Given the description of an element on the screen output the (x, y) to click on. 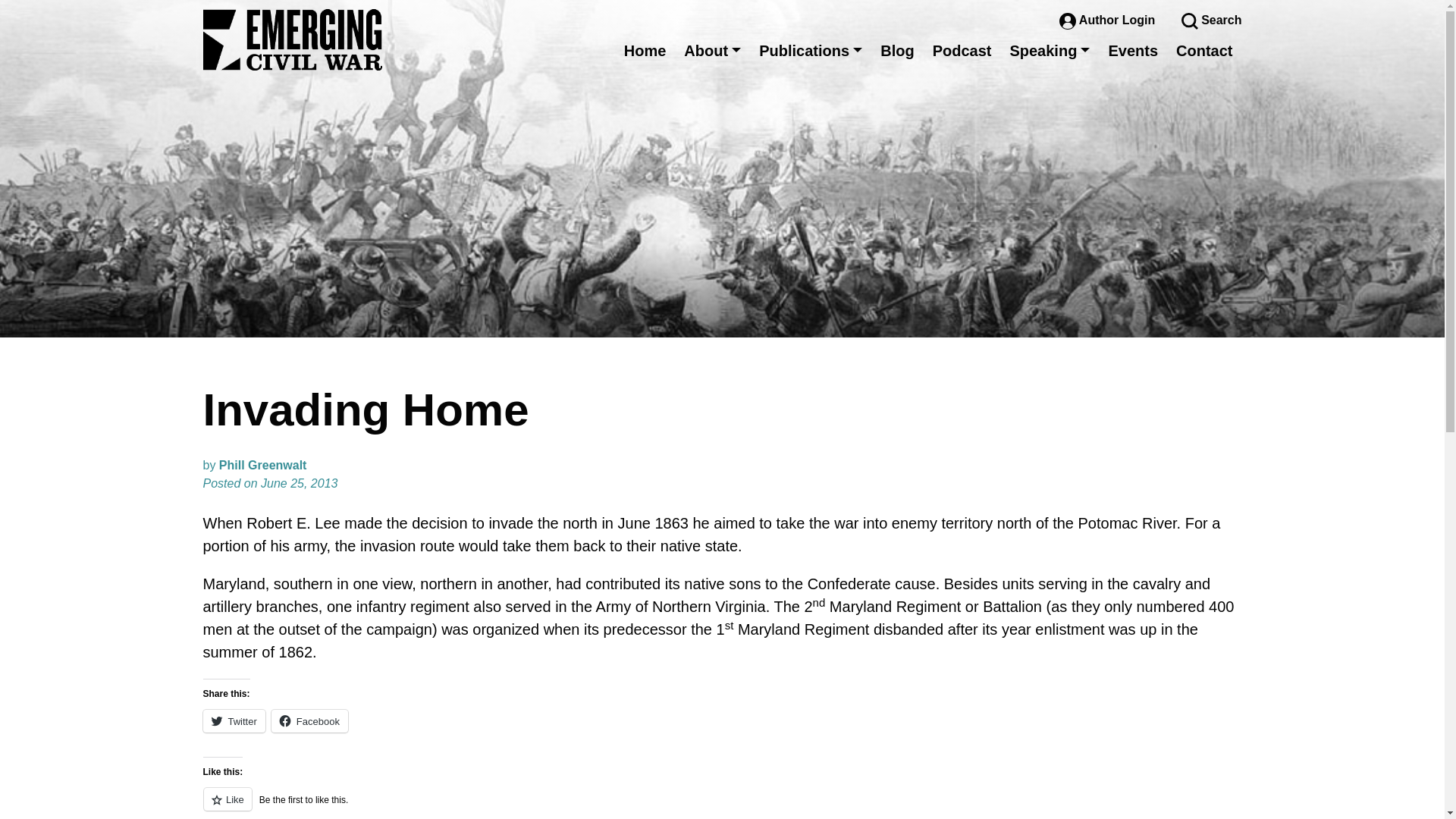
Blog (896, 50)
Facebook (308, 721)
Phill Greenwalt (263, 464)
Events (1133, 50)
Home (644, 50)
Contact (1204, 50)
Twitter (233, 721)
Podcast (962, 50)
Author Login (1108, 19)
Like or Reblog (722, 803)
Publications (809, 50)
Click to share on Facebook (308, 721)
About (712, 50)
Search (1210, 19)
Click to share on Twitter (233, 721)
